Given the description of an element on the screen output the (x, y) to click on. 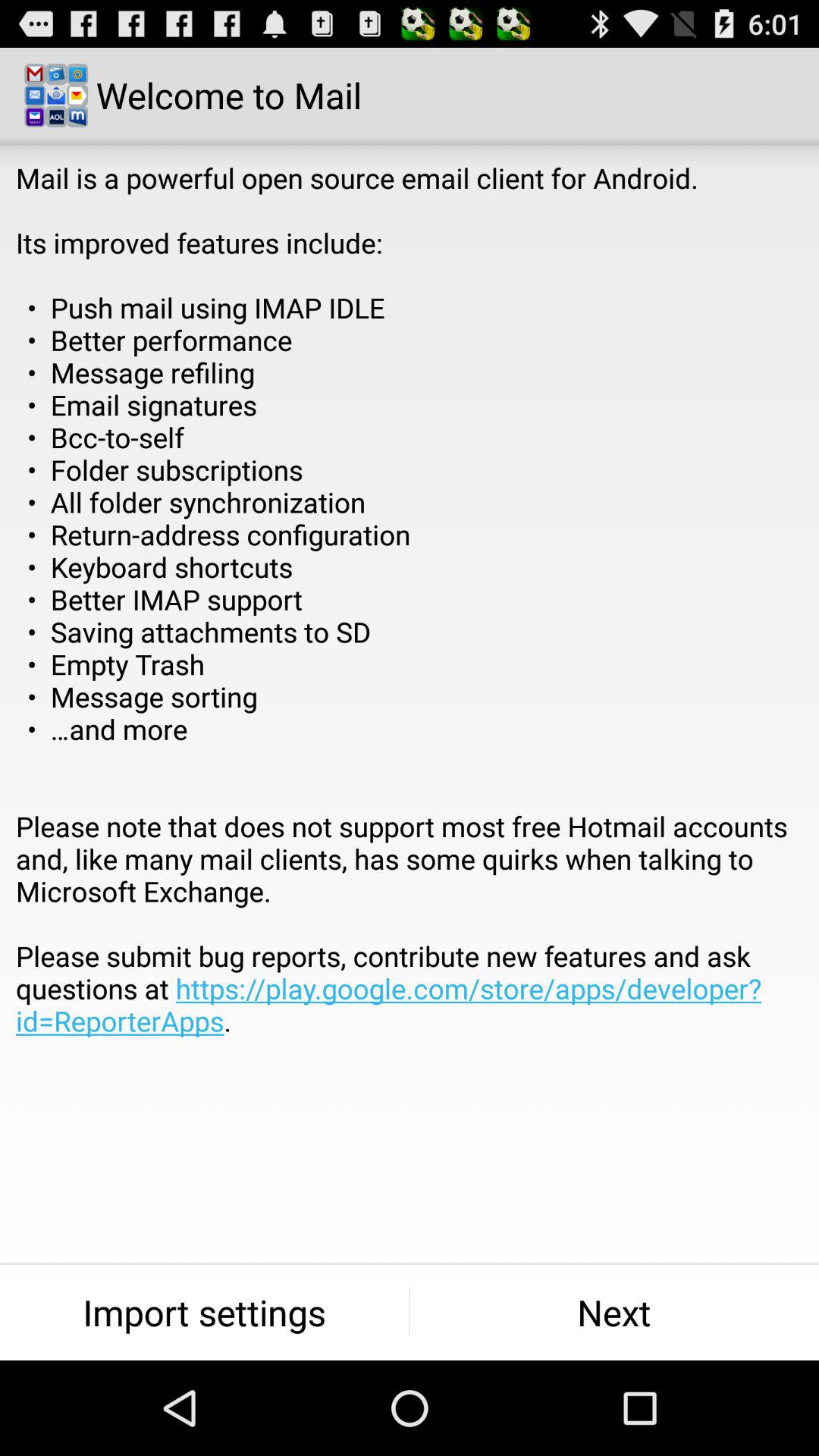
click item to the right of import settings button (614, 1312)
